Given the description of an element on the screen output the (x, y) to click on. 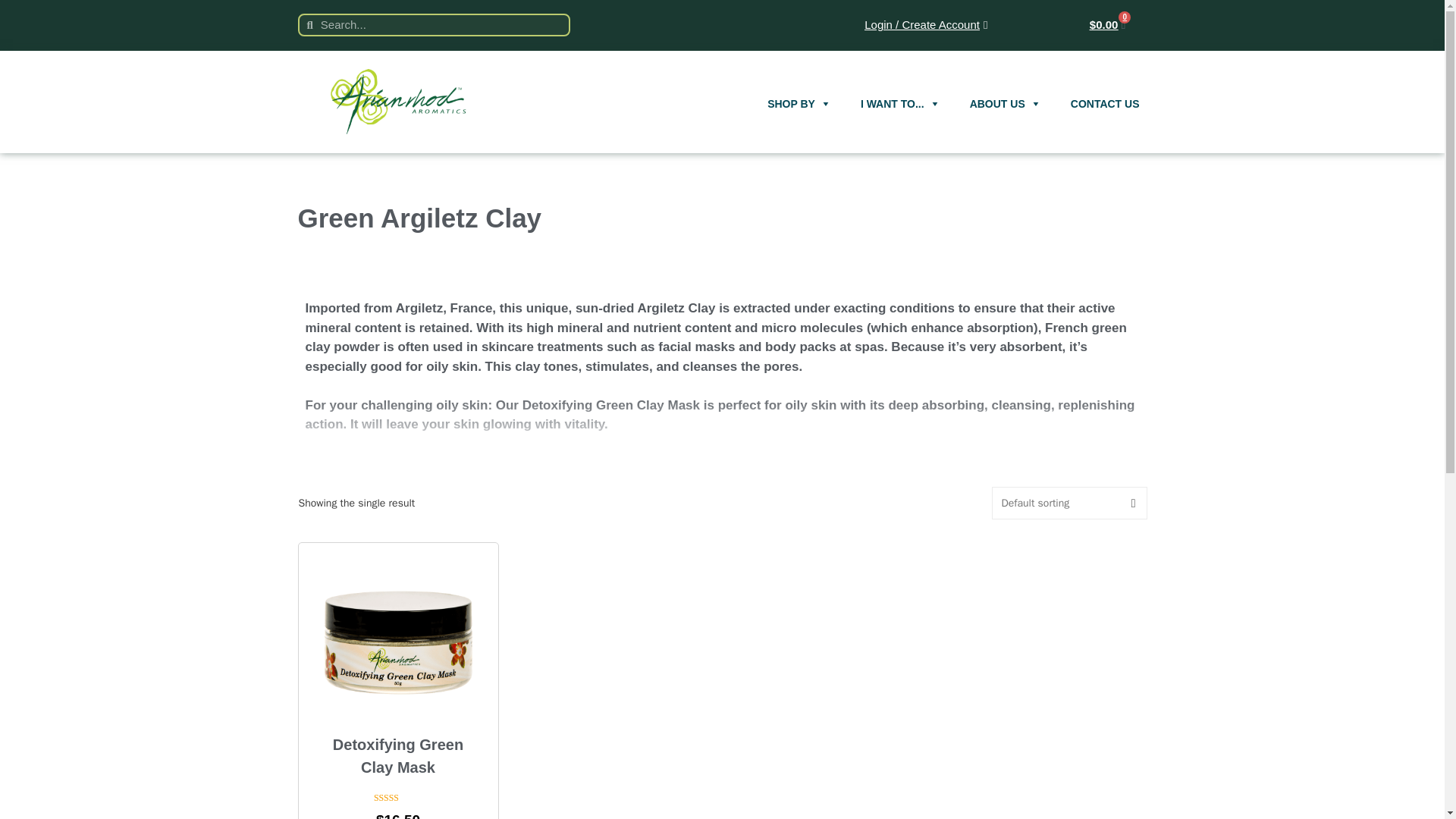
Rated 5.00 out of 5 (398, 797)
SHOP BY (798, 89)
